Given the description of an element on the screen output the (x, y) to click on. 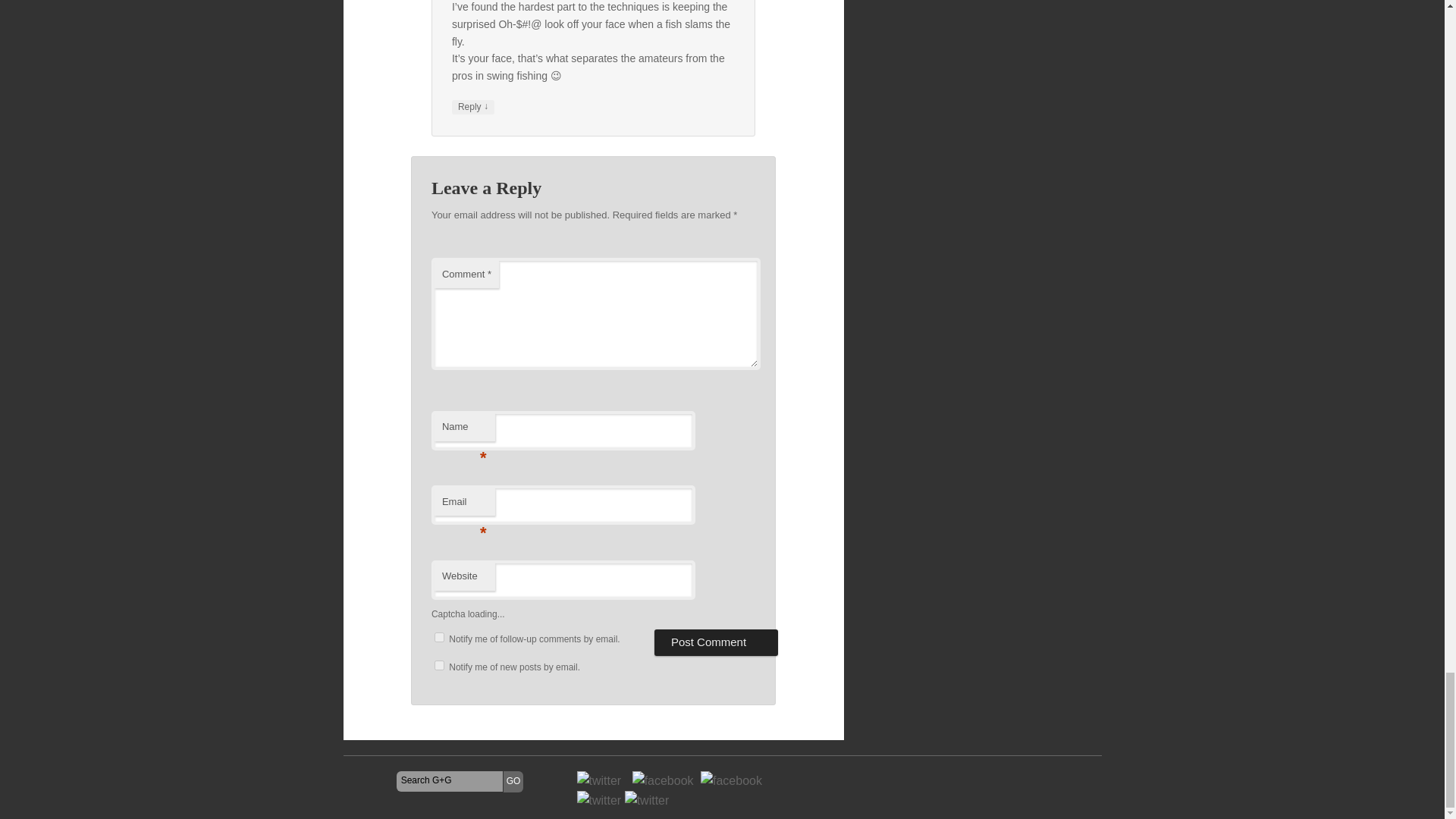
GO (513, 781)
subscribe (438, 665)
Post Comment (715, 642)
subscribe (438, 637)
